Given the description of an element on the screen output the (x, y) to click on. 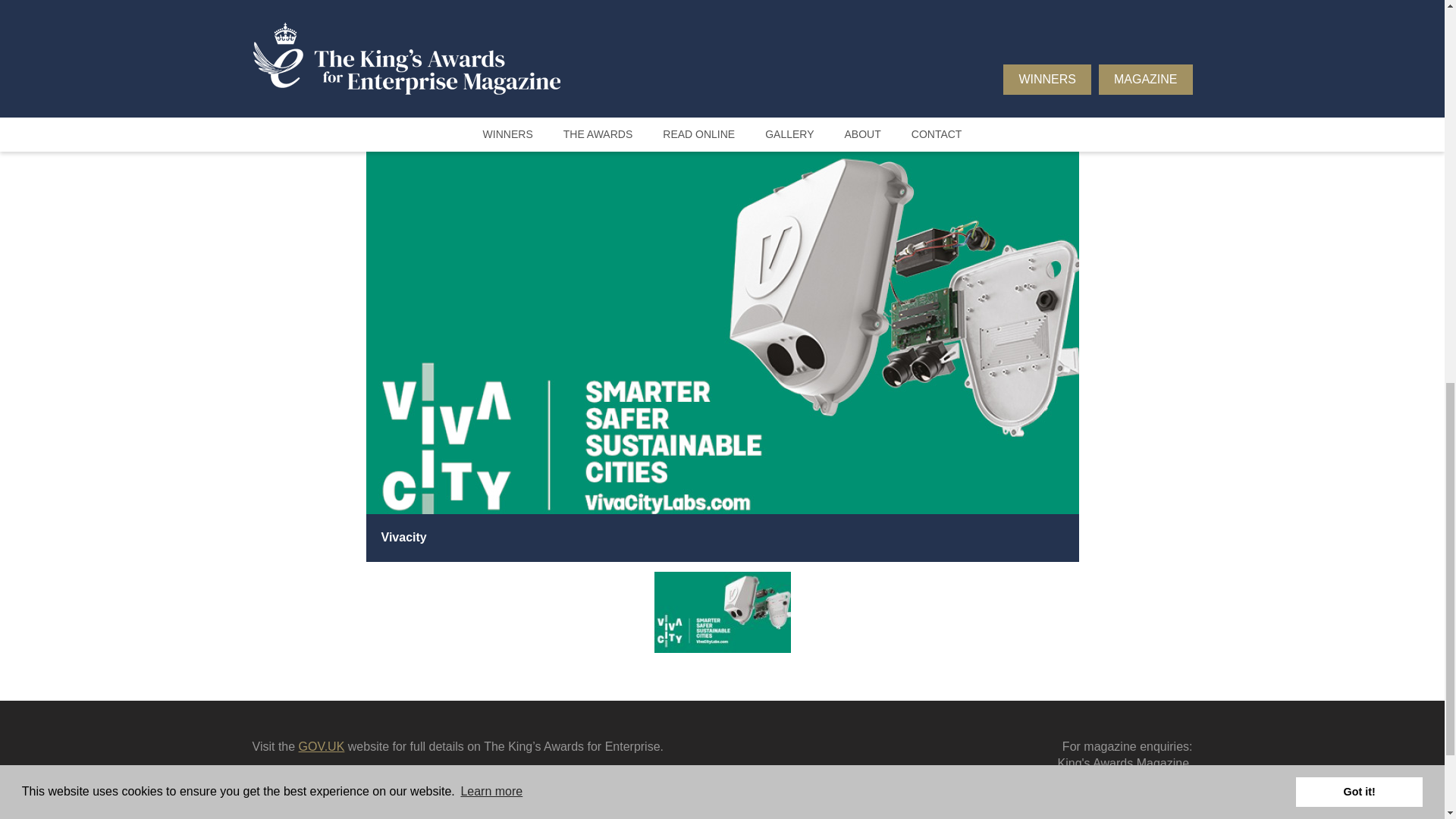
GOV.UK (321, 746)
JOIN ON LINKEDIN (497, 811)
FOLLOW ON TWITTER (331, 811)
